Given the description of an element on the screen output the (x, y) to click on. 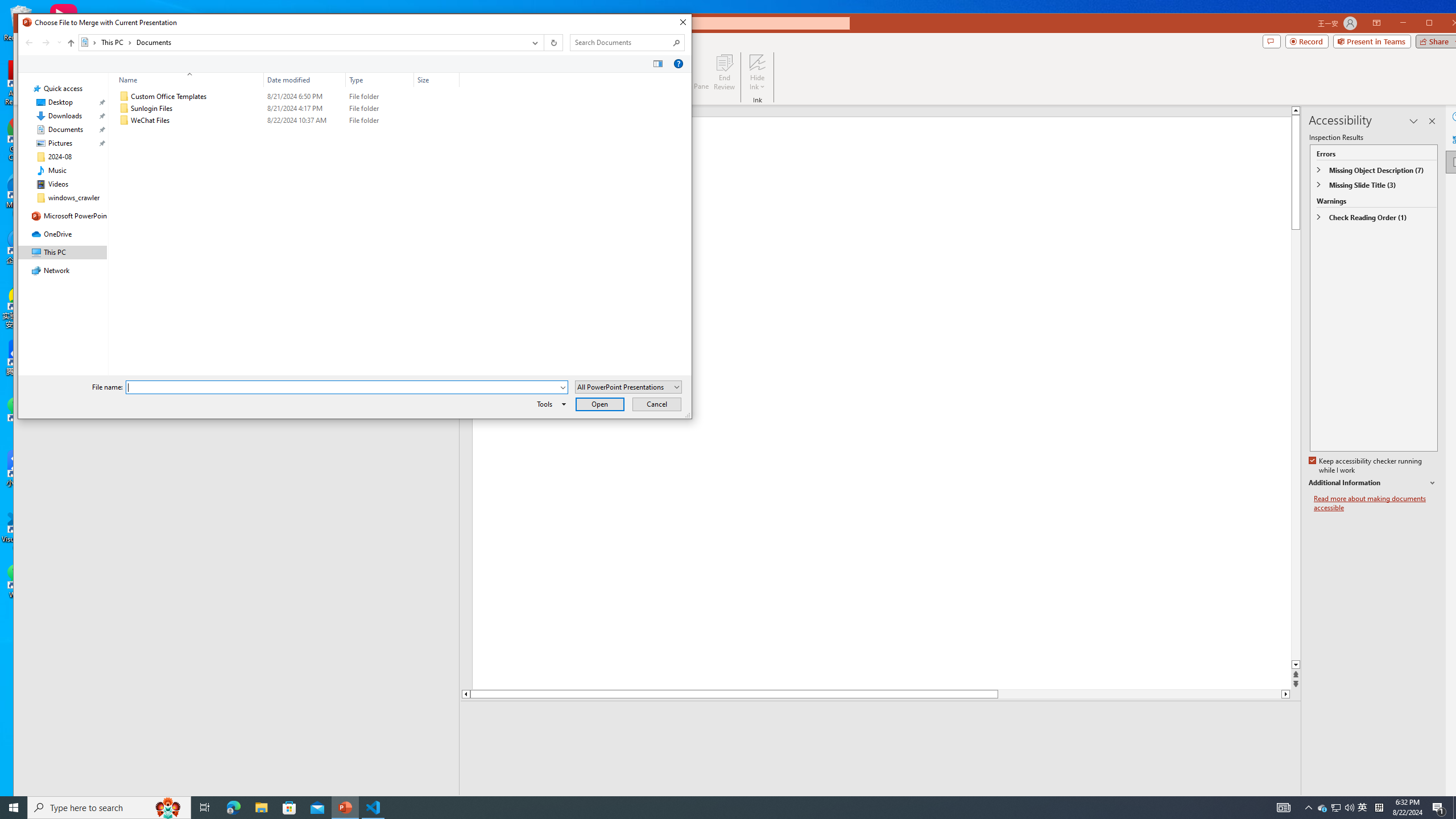
Type (379, 120)
Maximize (1445, 24)
Search highlights icon opens search home window (167, 807)
Previous Locations (534, 42)
WeChat Files (286, 120)
End Review (723, 72)
Hide Ink (757, 72)
Slide Notes (1322, 807)
